Given the description of an element on the screen output the (x, y) to click on. 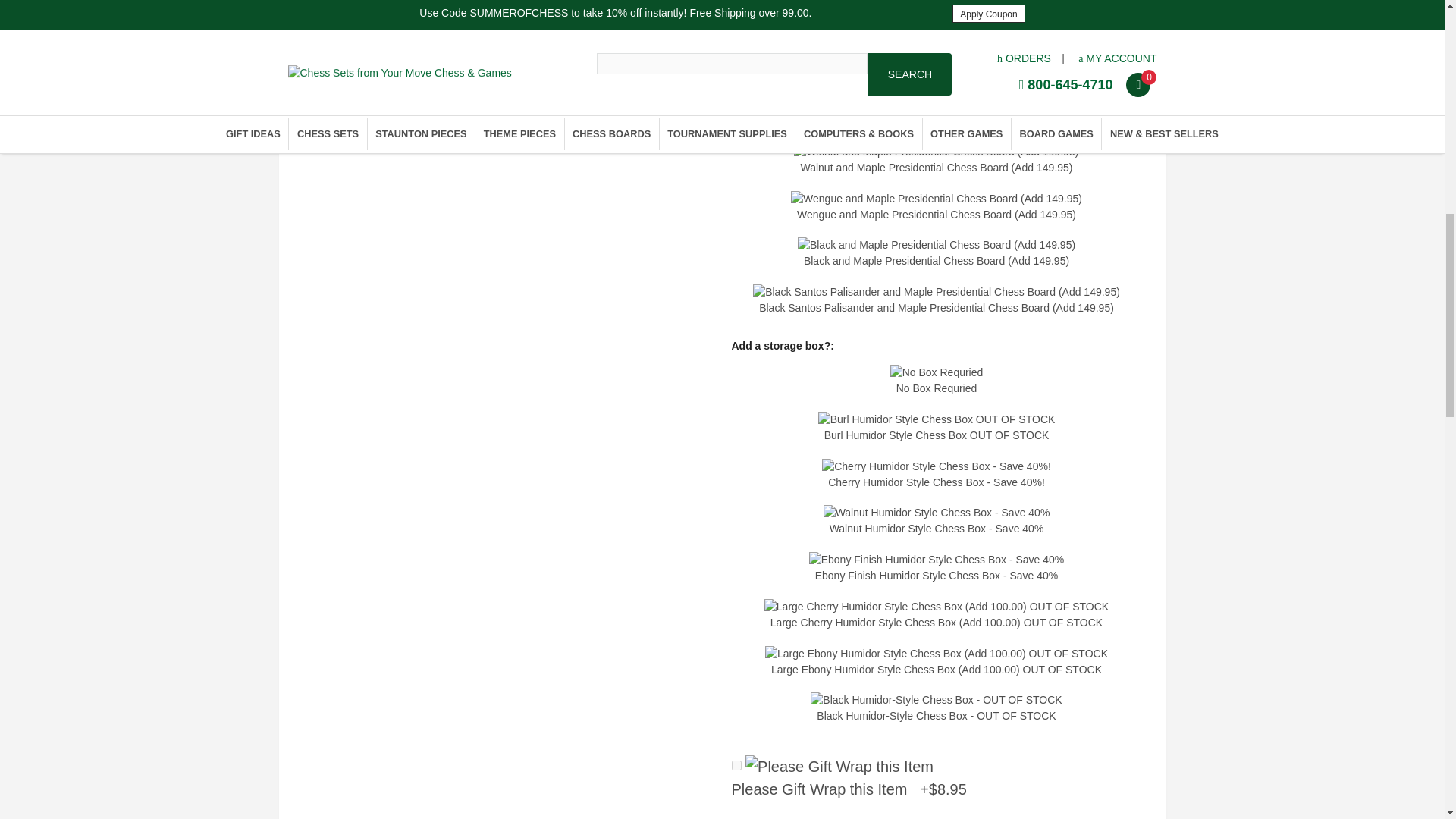
on (735, 765)
